Given the description of an element on the screen output the (x, y) to click on. 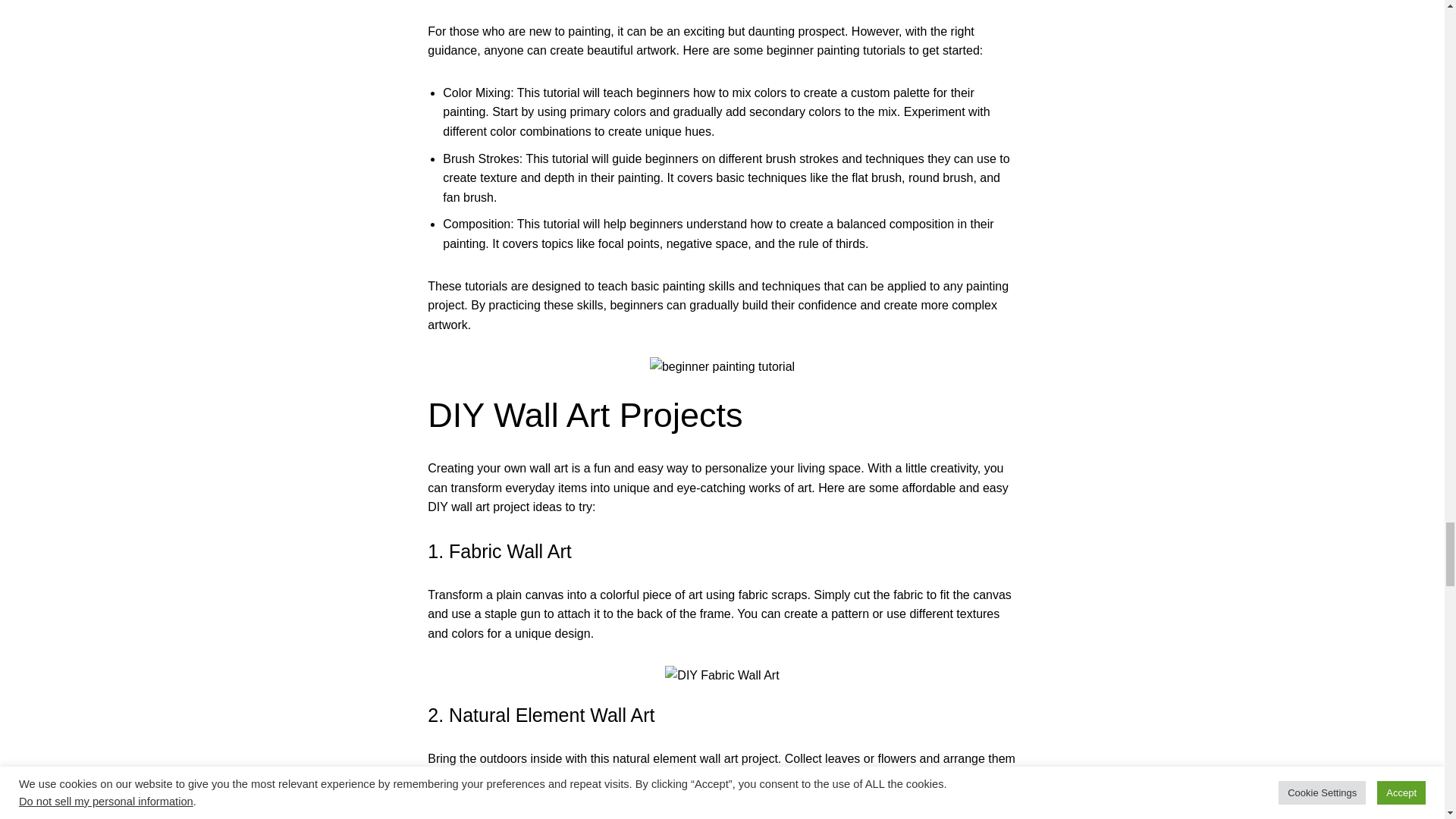
beginner painting tutorial (721, 366)
DIY Fabric Wall Art (721, 675)
